Given the description of an element on the screen output the (x, y) to click on. 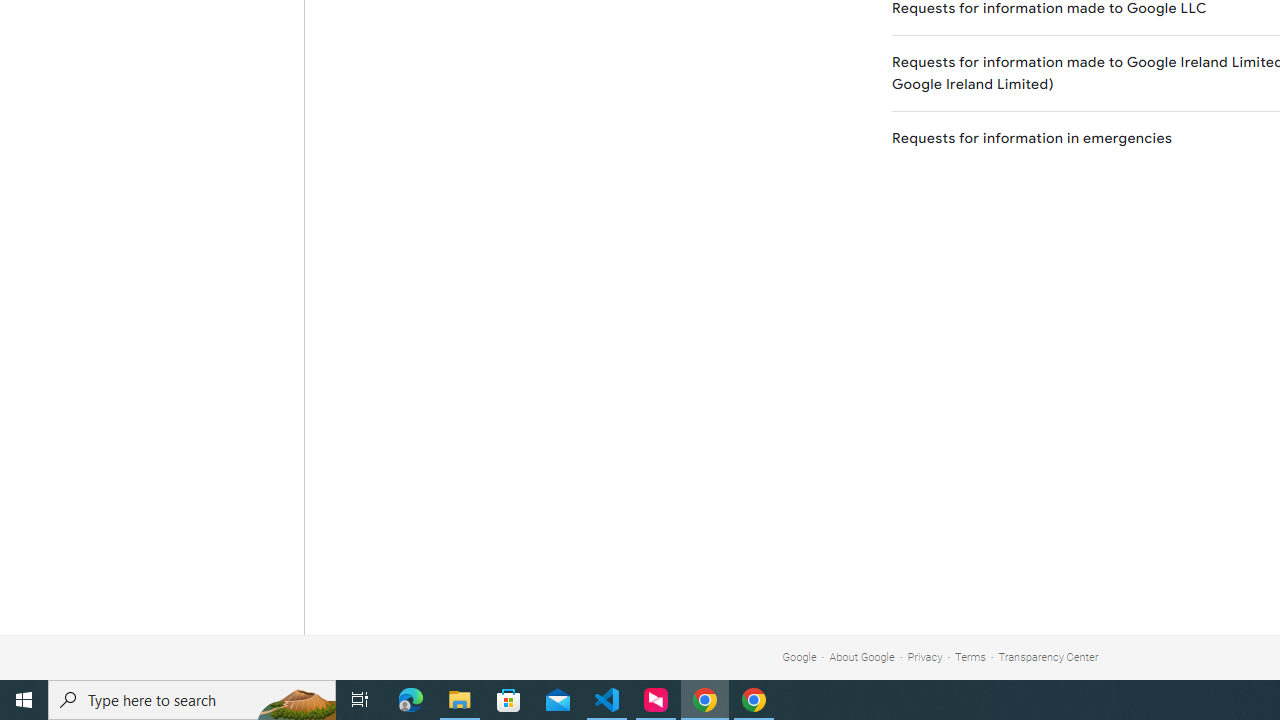
Google (799, 656)
About Google (861, 656)
Transparency Center (1048, 656)
